Given the description of an element on the screen output the (x, y) to click on. 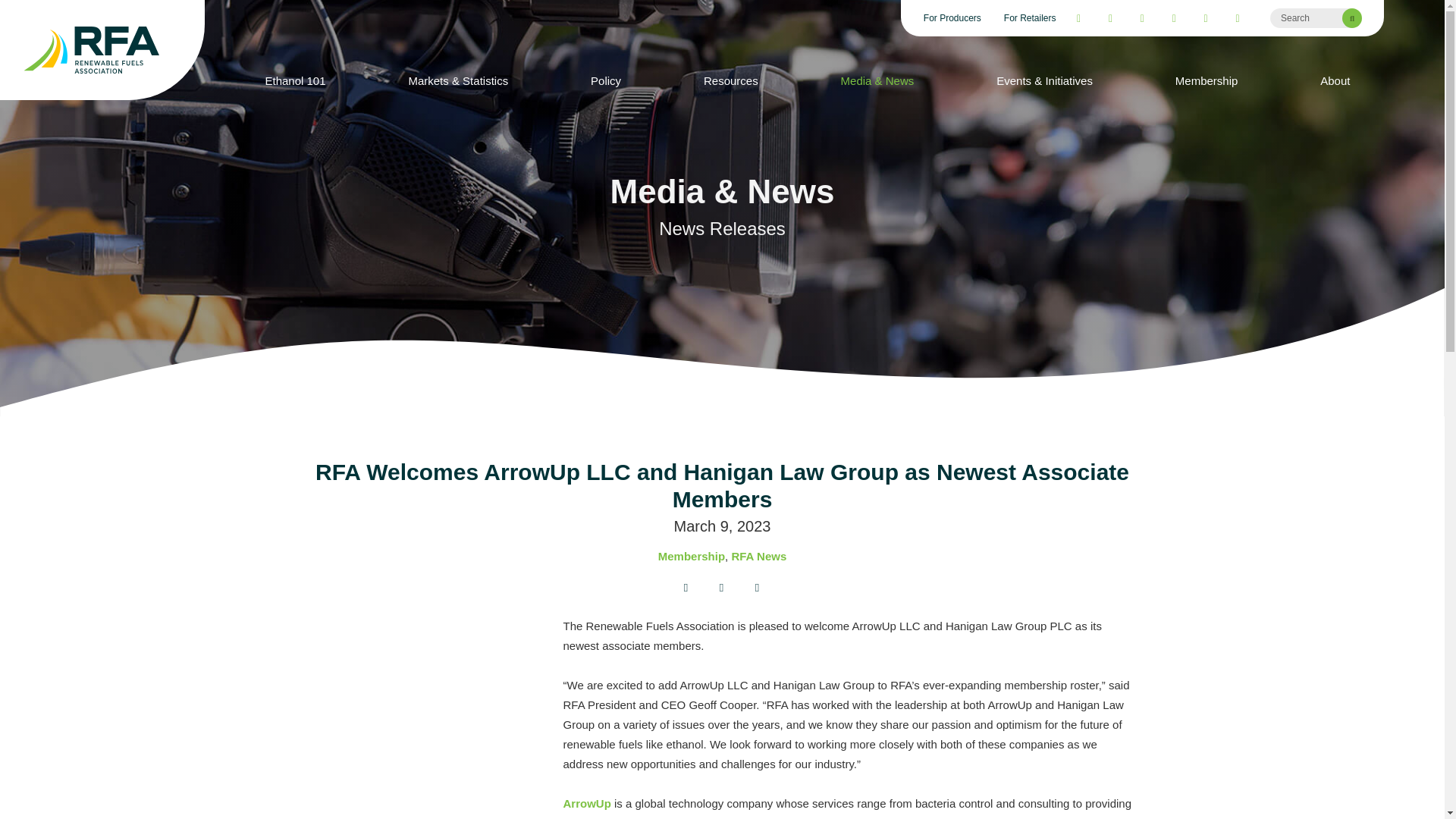
Instagram (1173, 17)
Facebook (1078, 17)
Flickr (1237, 17)
LinkedIn (1205, 17)
Home (102, 49)
Twitter (1110, 17)
YouTube (1142, 17)
